Given the description of an element on the screen output the (x, y) to click on. 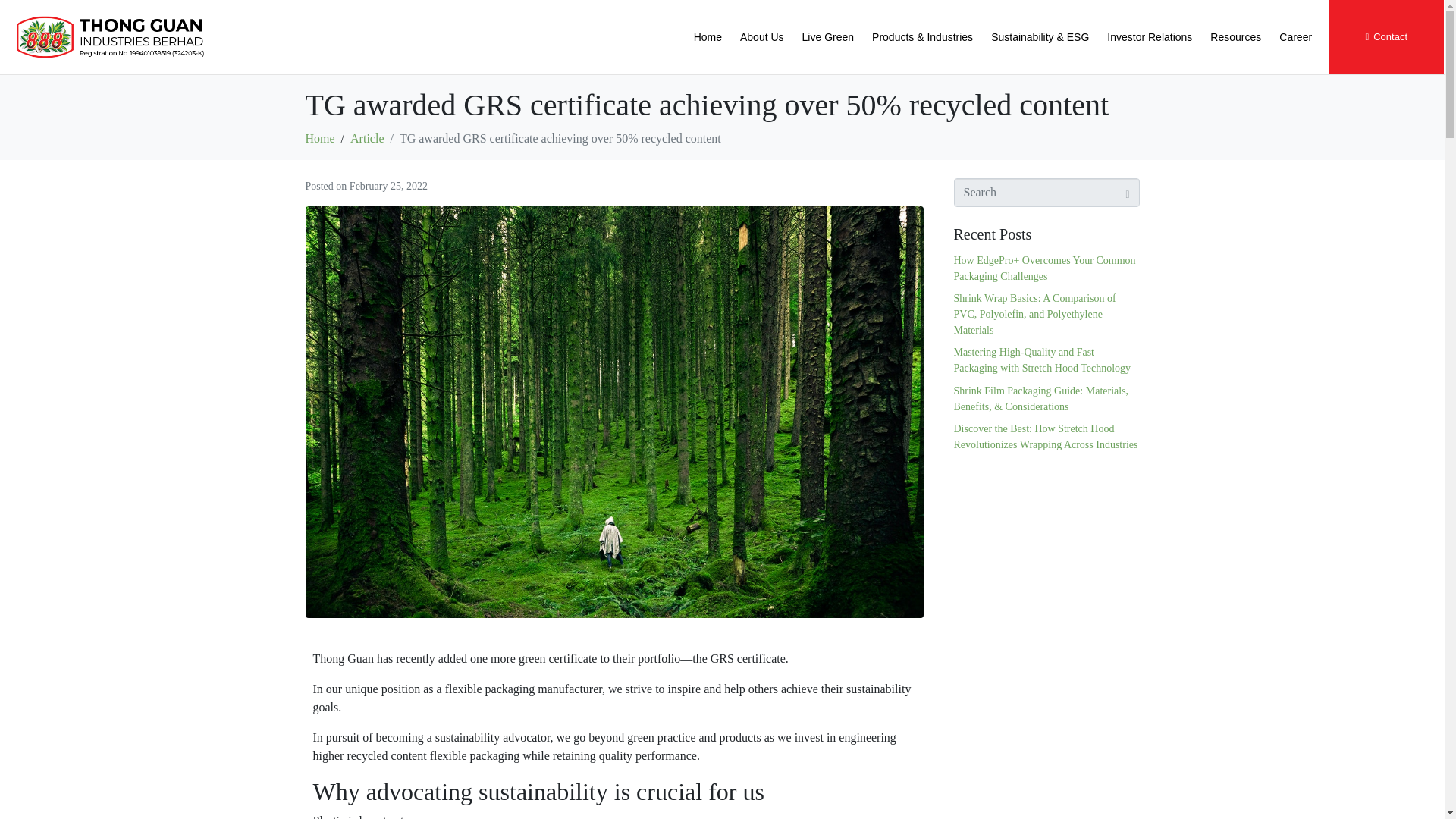
About Us (761, 37)
Live Green (828, 37)
Home (707, 37)
